Given the description of an element on the screen output the (x, y) to click on. 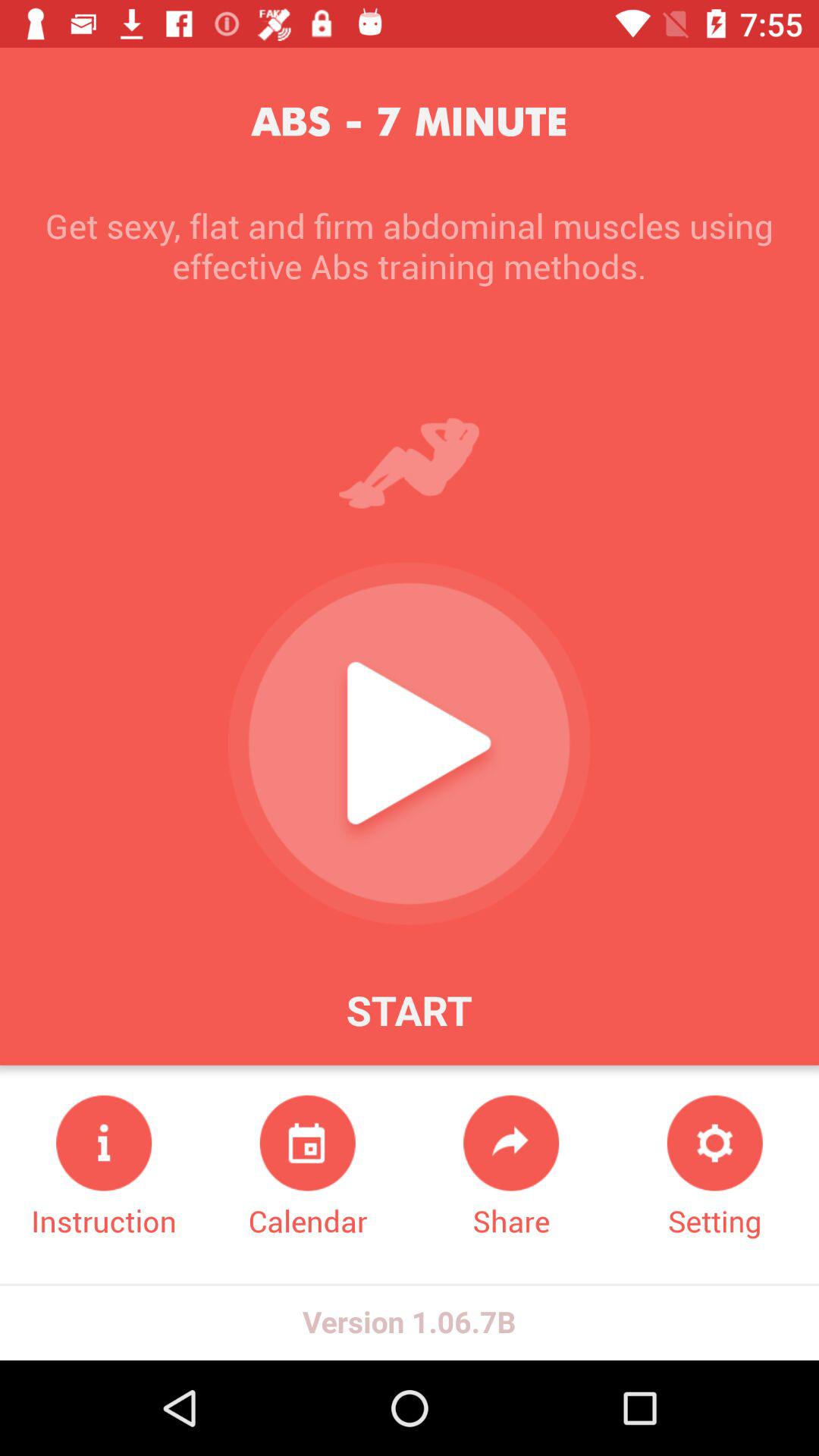
click item below get sexy flat item (714, 1168)
